Given the description of an element on the screen output the (x, y) to click on. 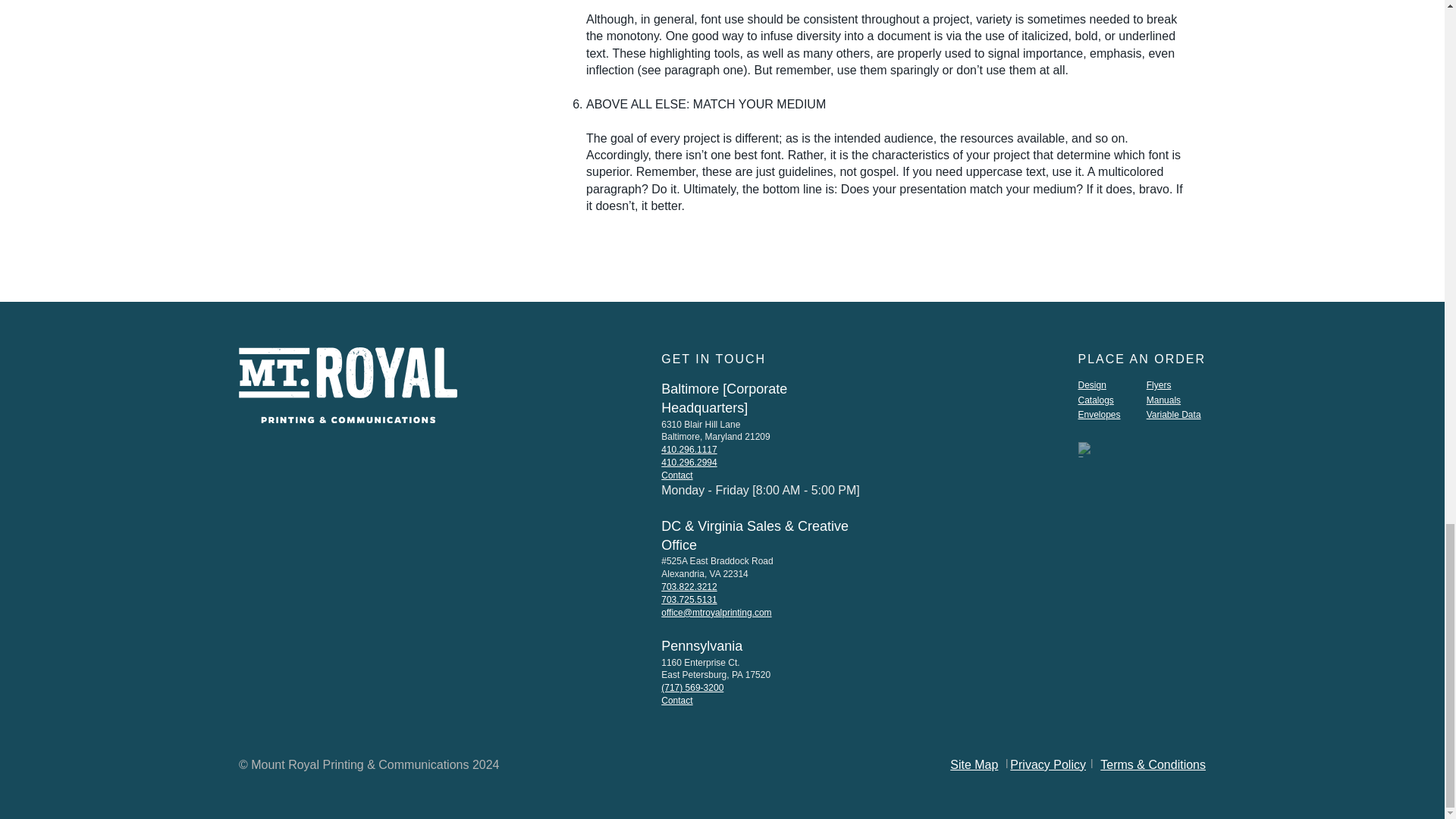
logo (347, 385)
